Given the description of an element on the screen output the (x, y) to click on. 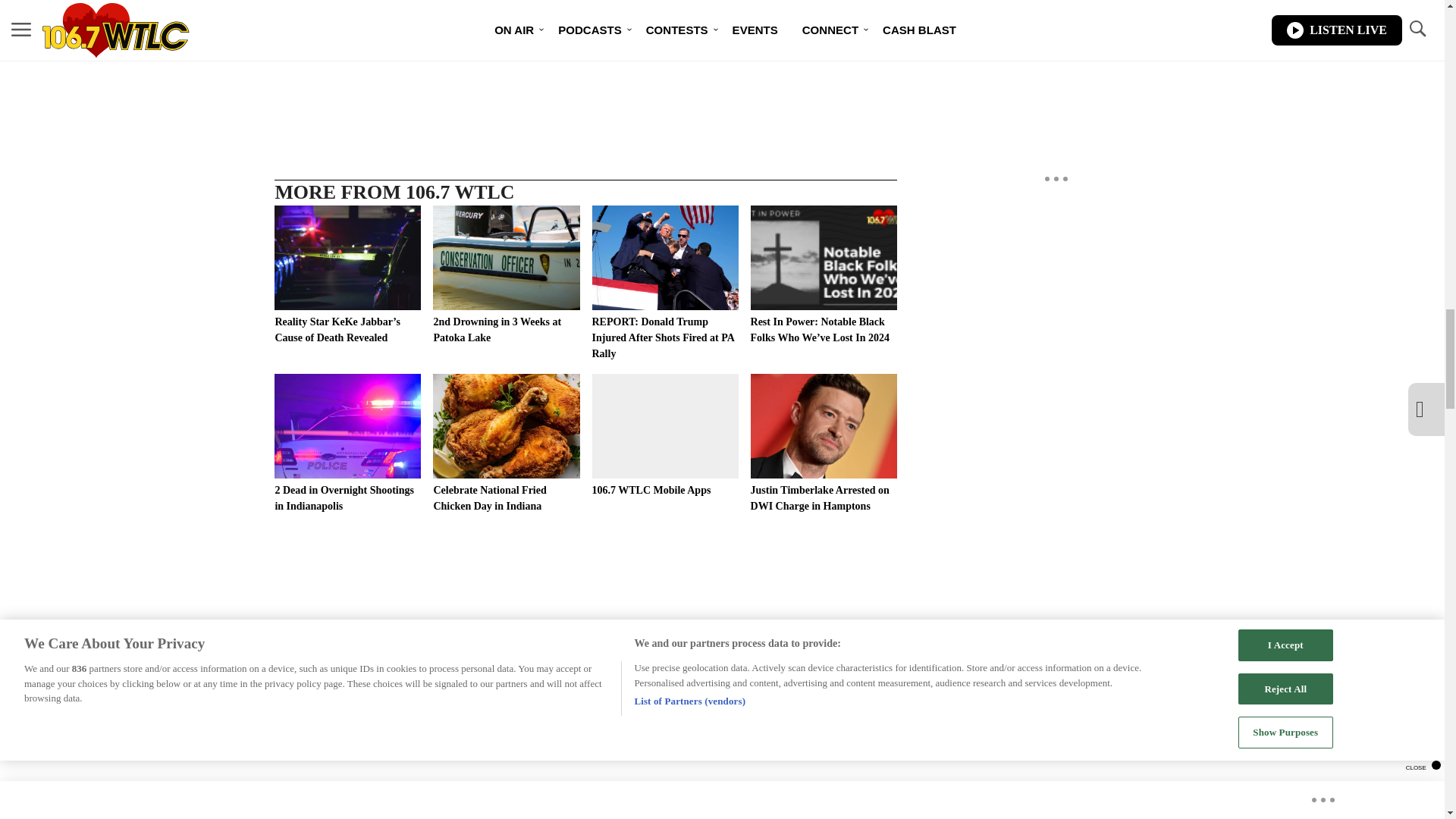
Vuukle Sharebar Widget (585, 80)
Vuukle Comments Widget (585, 809)
